Given the description of an element on the screen output the (x, y) to click on. 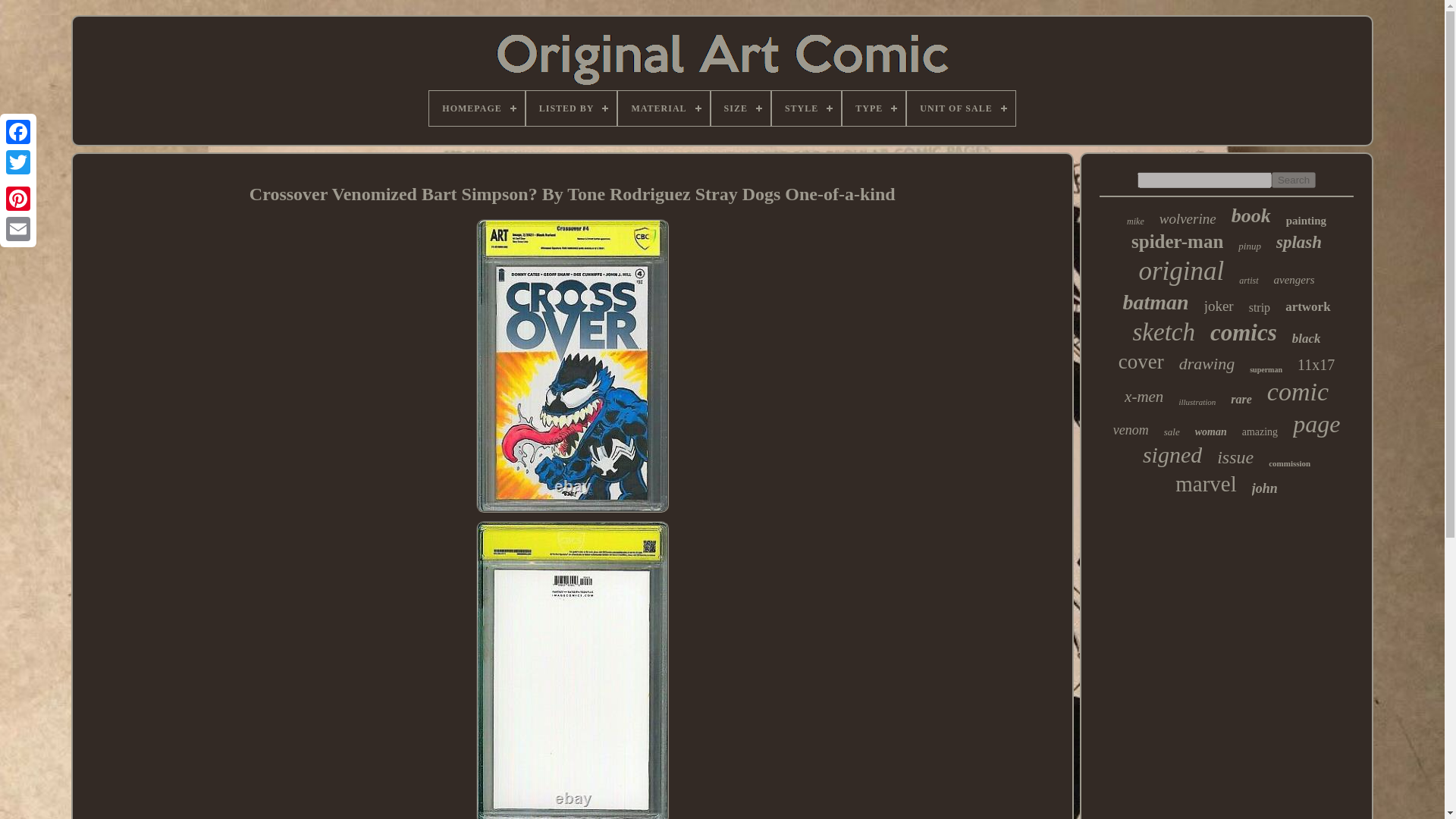
Search (1293, 179)
SIZE (740, 108)
LISTED BY (571, 108)
HOMEPAGE (476, 108)
STYLE (806, 108)
Twitter (17, 162)
MATERIAL (663, 108)
